Given the description of an element on the screen output the (x, y) to click on. 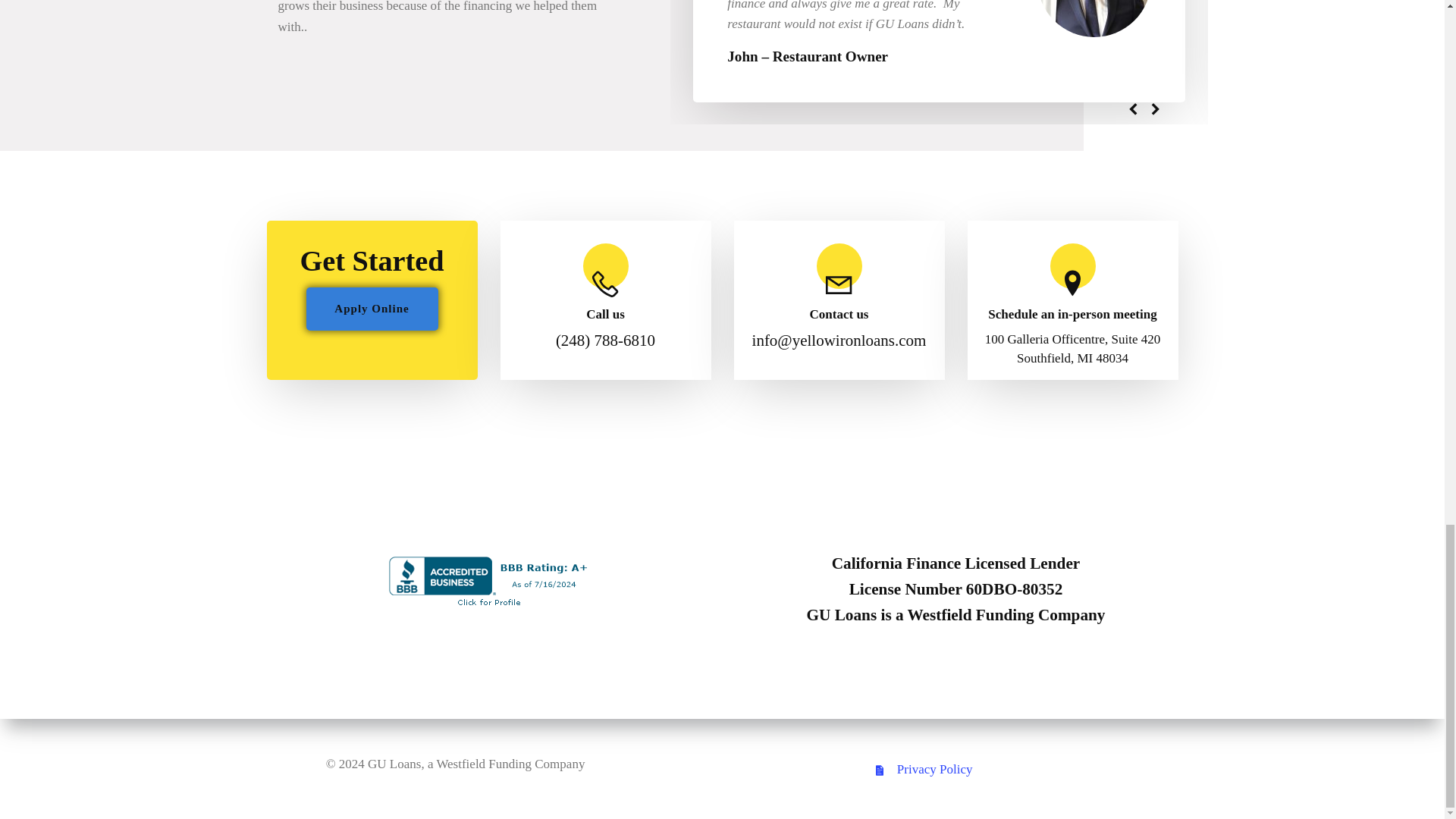
100 Galleria Officentre, Suite 420 Southfield, MI 48034 (1072, 349)
Apply Online (371, 308)
